Given the description of an element on the screen output the (x, y) to click on. 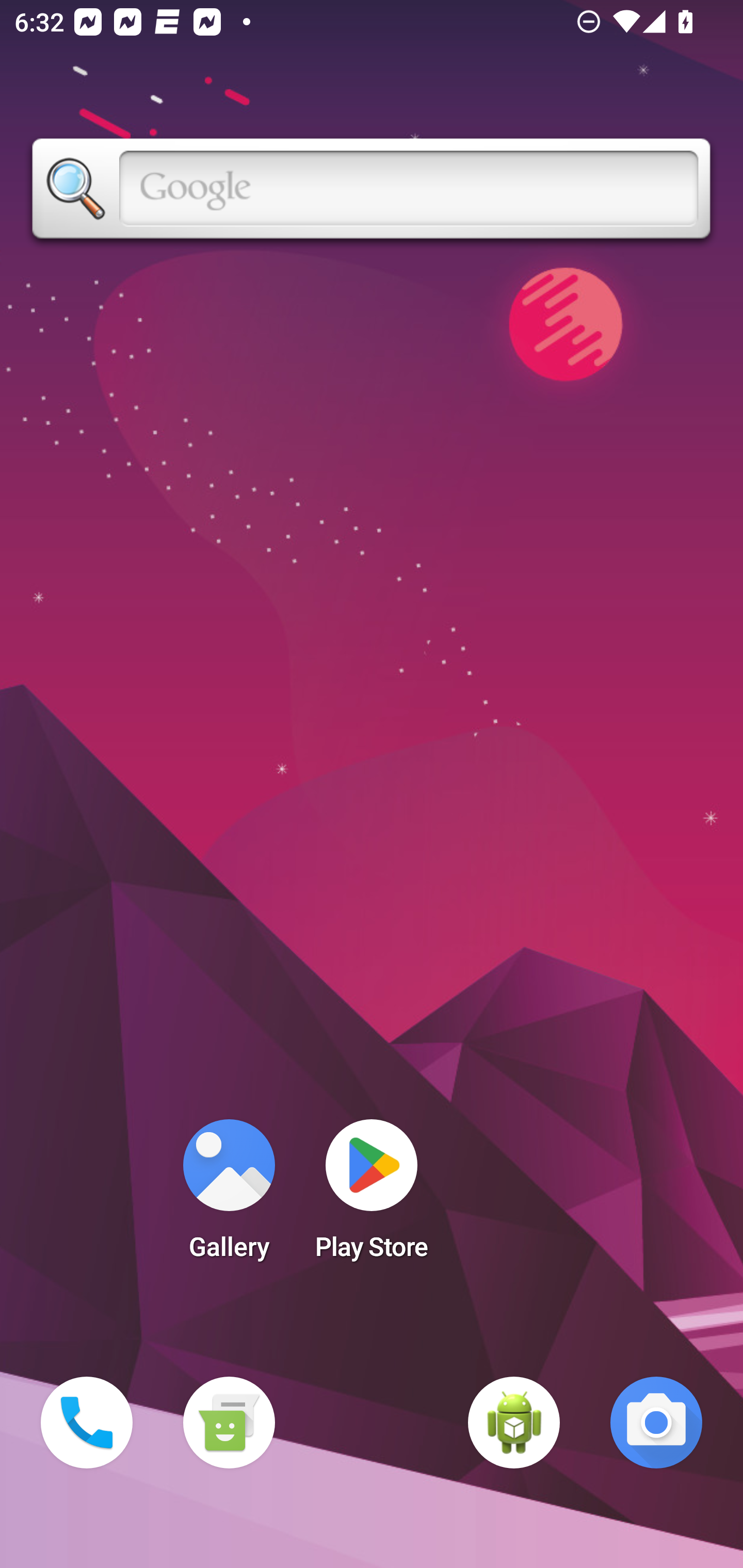
Gallery (228, 1195)
Play Store (371, 1195)
Phone (86, 1422)
Messaging (228, 1422)
WebView Browser Tester (513, 1422)
Camera (656, 1422)
